Given the description of an element on the screen output the (x, y) to click on. 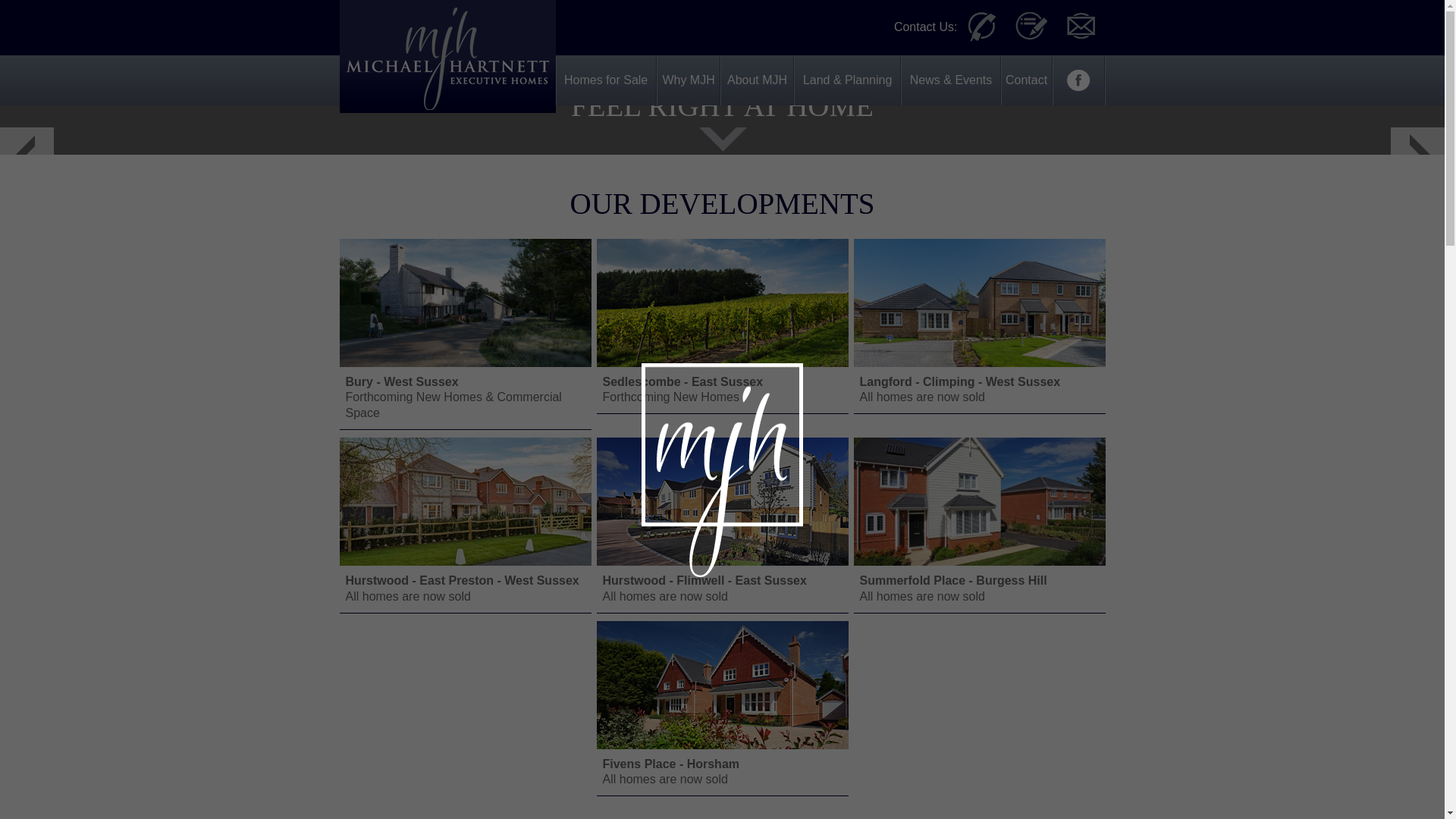
Email: (1079, 26)
Contact Form (1030, 26)
Homes for Sale (606, 80)
Click To Send (721, 322)
Why MJH (721, 521)
01903 871710 (980, 461)
